Given the description of an element on the screen output the (x, y) to click on. 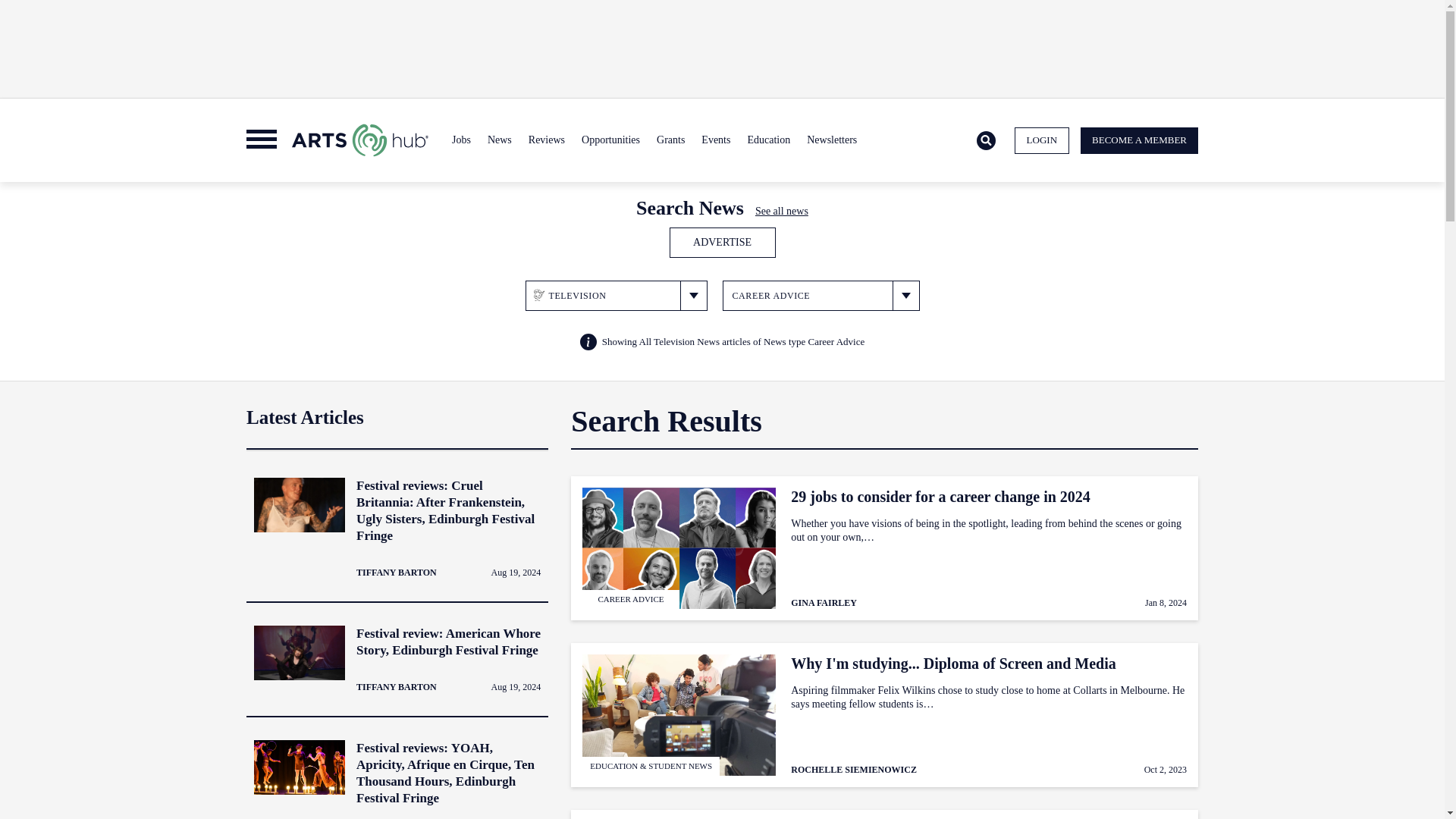
Reviews (546, 139)
Newsletters (832, 139)
News (498, 139)
Grants (670, 139)
Education (768, 139)
Search Icon (985, 139)
LOGIN (1041, 140)
Jobs (461, 139)
Search Icon (985, 140)
Events (715, 139)
